Given the description of an element on the screen output the (x, y) to click on. 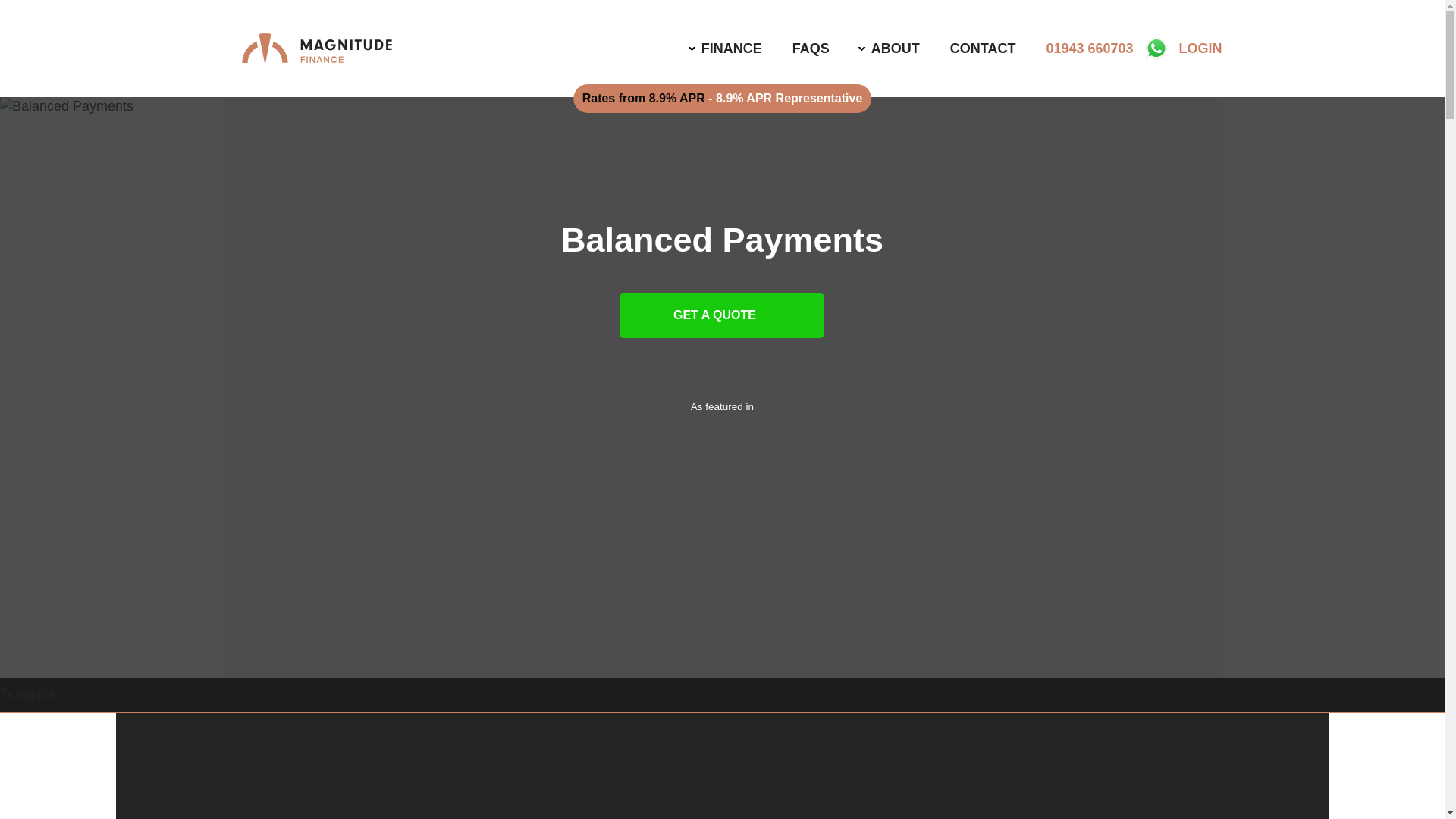
ABOUT (890, 48)
01943 660703 (1088, 48)
FINANCE (725, 48)
Trustpilot (721, 789)
GET A QUOTE (722, 315)
CONTACT (983, 48)
LOGIN (1199, 48)
FAQS (810, 48)
Trustpilot (27, 694)
Magnitude (316, 48)
